Given the description of an element on the screen output the (x, y) to click on. 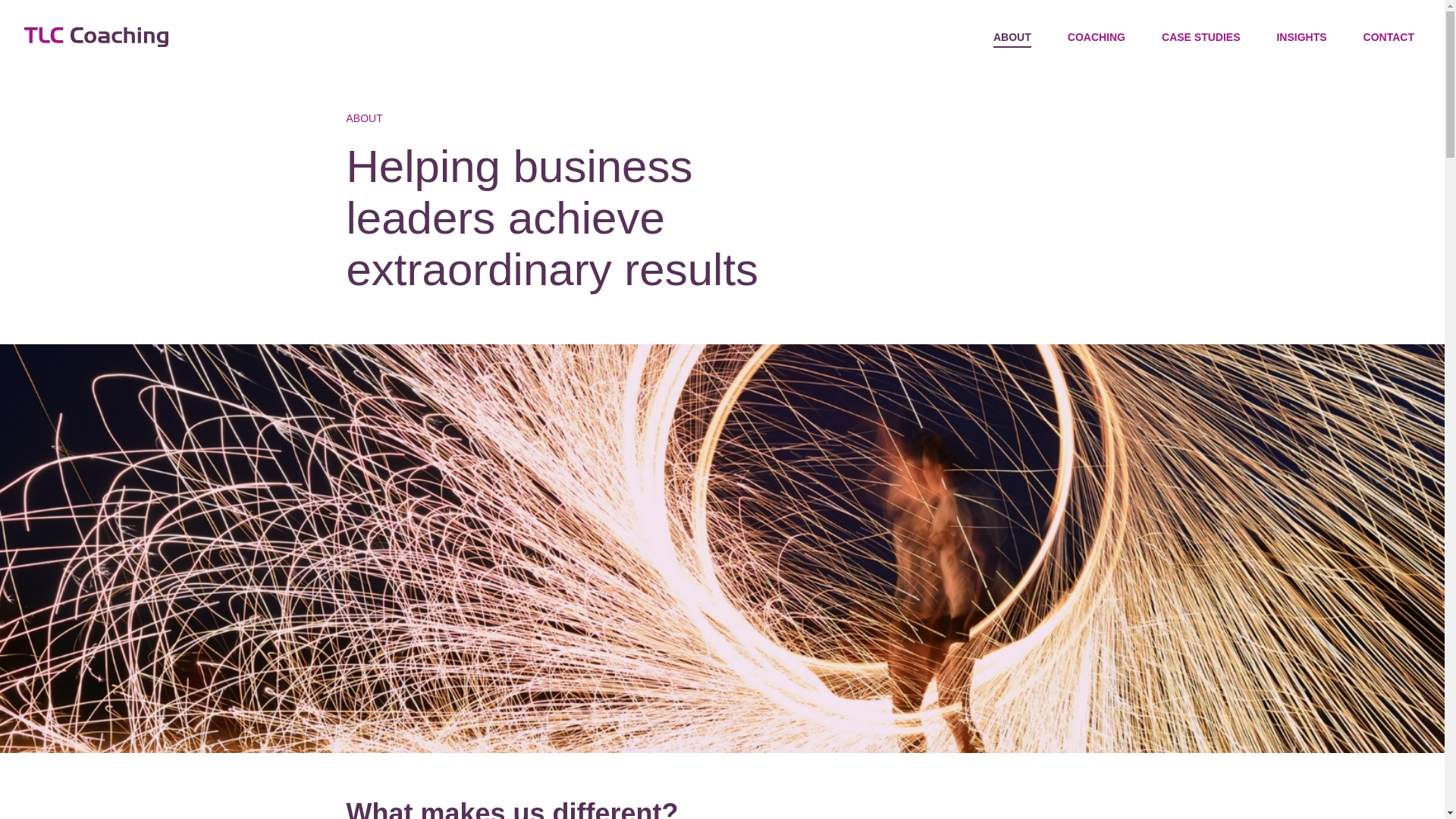
CASE STUDIES (1200, 37)
ABOUT (1011, 39)
CONTACT (1387, 37)
COACHING (1096, 37)
INSIGHTS (1301, 37)
